Given the description of an element on the screen output the (x, y) to click on. 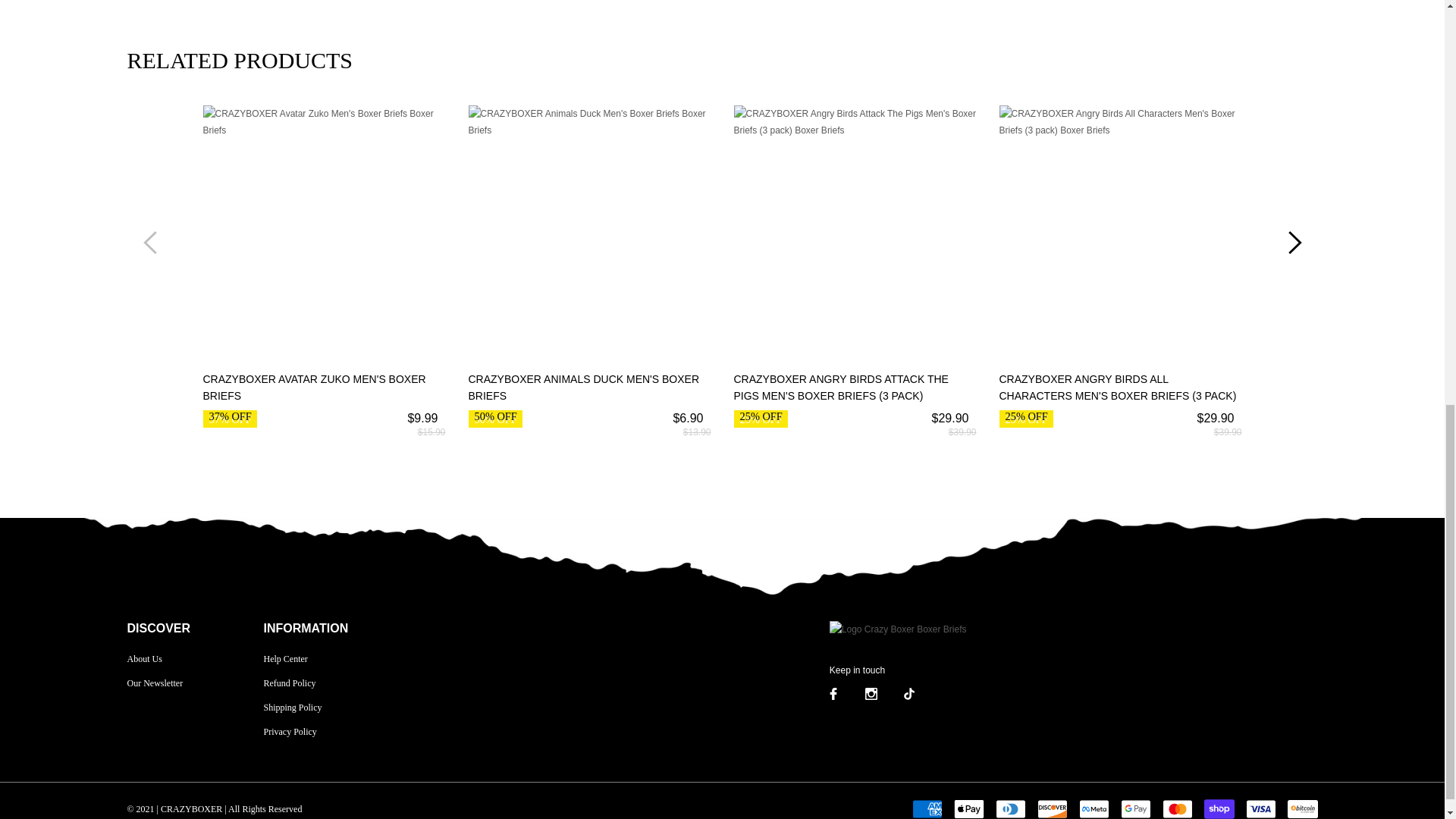
American Express (926, 808)
Apple Pay (968, 808)
Discover (1051, 808)
Meta Pay (1093, 808)
Diners Club (1009, 808)
